Given the description of an element on the screen output the (x, y) to click on. 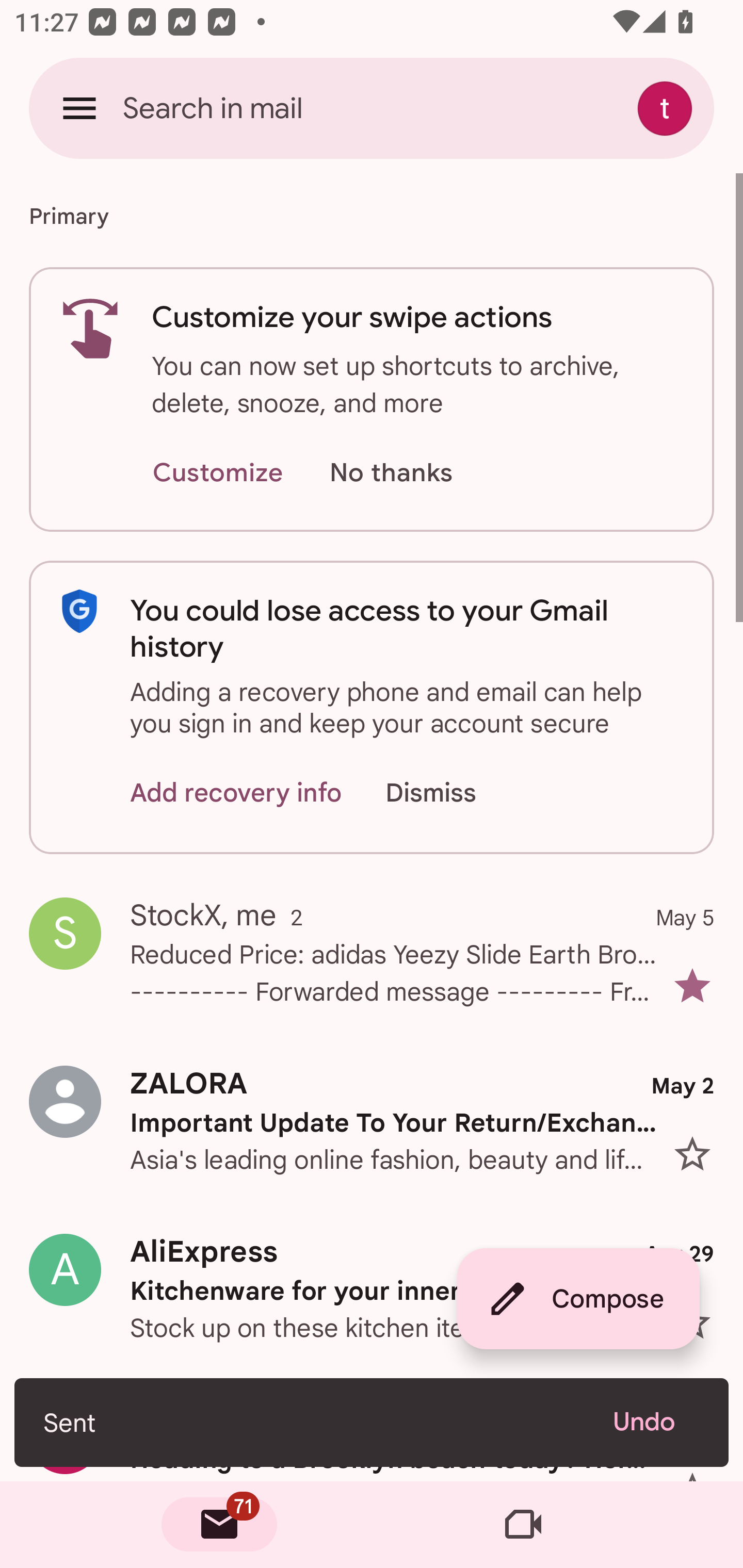
Open navigation drawer (79, 108)
Customize (217, 473)
No thanks (390, 473)
Add recovery info (235, 792)
Dismiss (449, 792)
Compose (577, 1299)
Undo (655, 1422)
Meet (523, 1524)
